Given the description of an element on the screen output the (x, y) to click on. 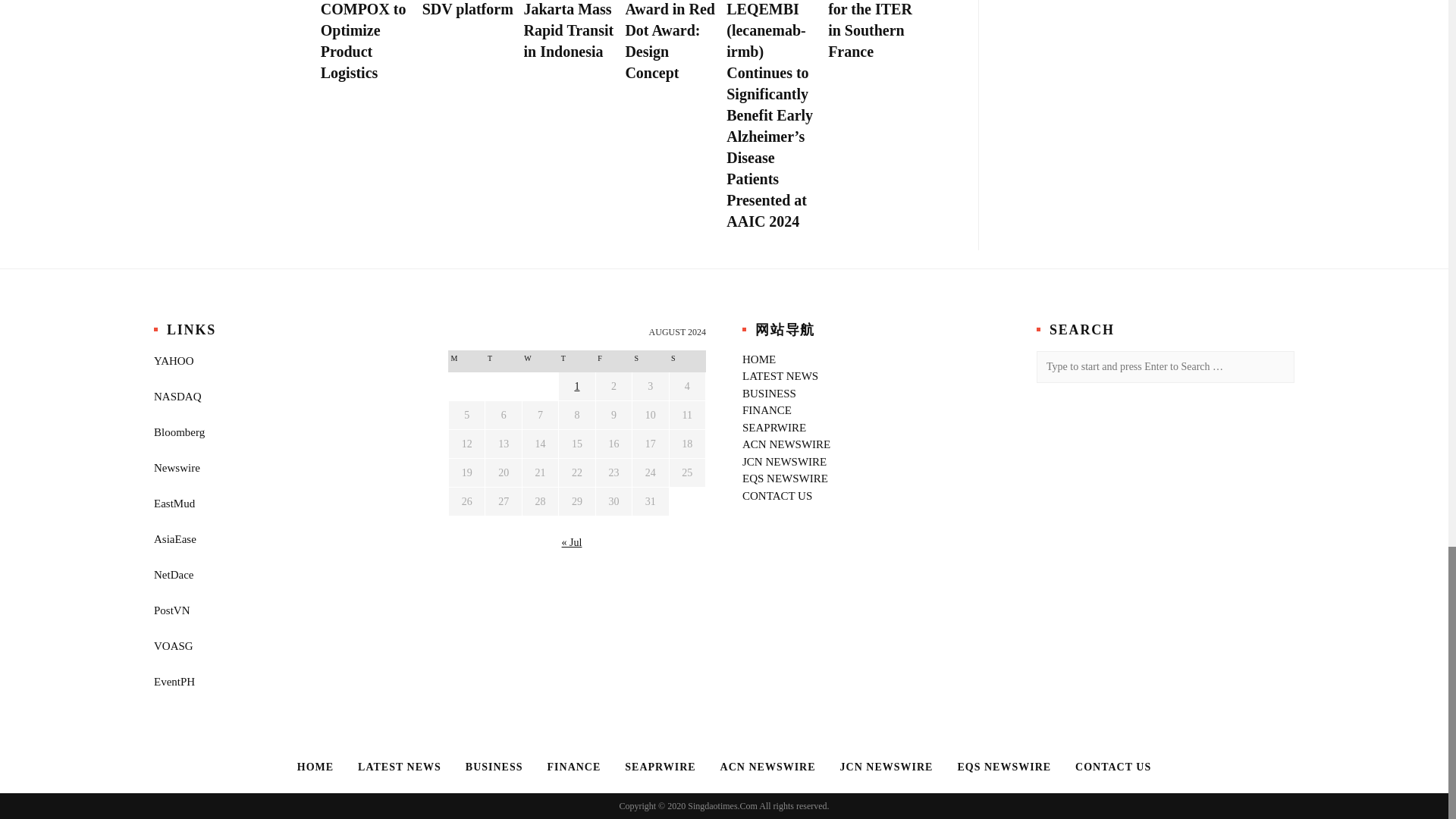
Tuesday (502, 361)
Friday (613, 361)
Sunday (686, 361)
Search for: (1165, 367)
Wednesday (539, 361)
Thursday (577, 361)
Saturday (649, 361)
Monday (466, 361)
